Given the description of an element on the screen output the (x, y) to click on. 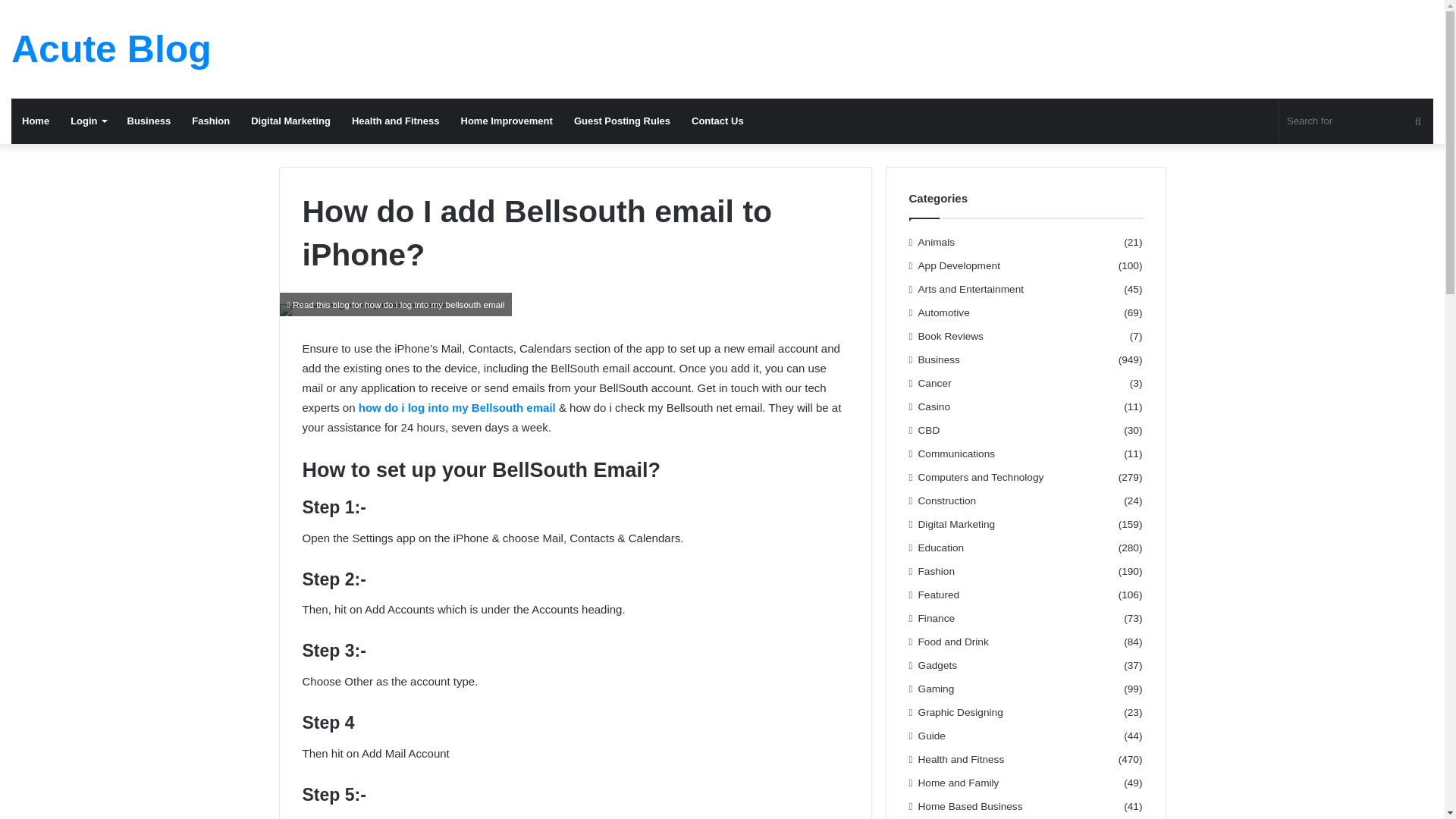
Book Reviews (951, 335)
Computers and Technology (980, 477)
Guide (931, 735)
Health and Fitness (961, 759)
App Development (959, 265)
Search for (1355, 121)
Automotive (943, 312)
Education (940, 547)
Construction (947, 500)
how do i log into my Bellsouth email (457, 407)
